Given the description of an element on the screen output the (x, y) to click on. 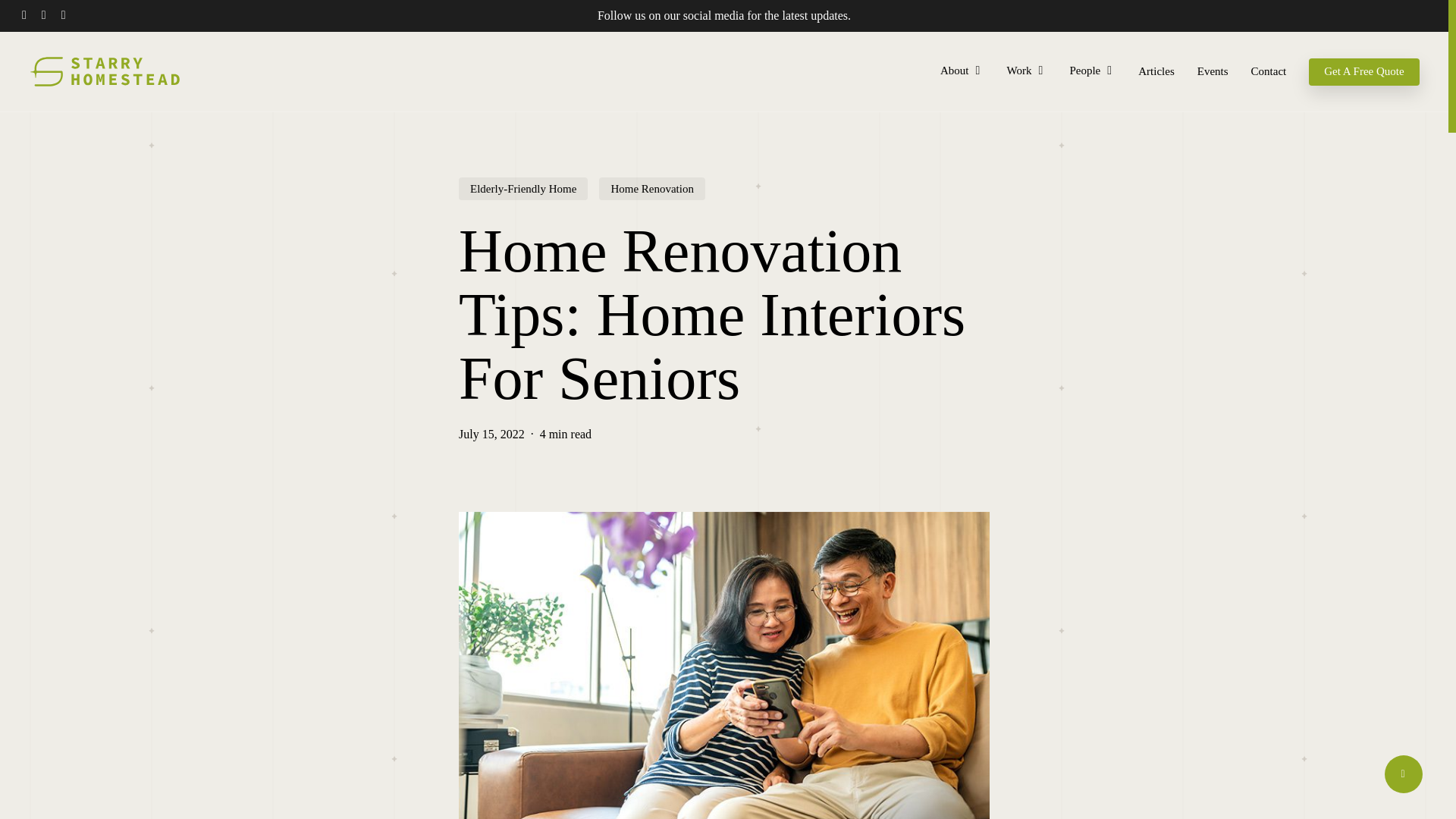
Get A Free Quote (1363, 71)
Events (1212, 71)
Work (1026, 71)
Follow us on our social media for the latest updates. (723, 15)
People (1091, 71)
Contact (1268, 71)
Articles (1155, 71)
About (962, 71)
